Given the description of an element on the screen output the (x, y) to click on. 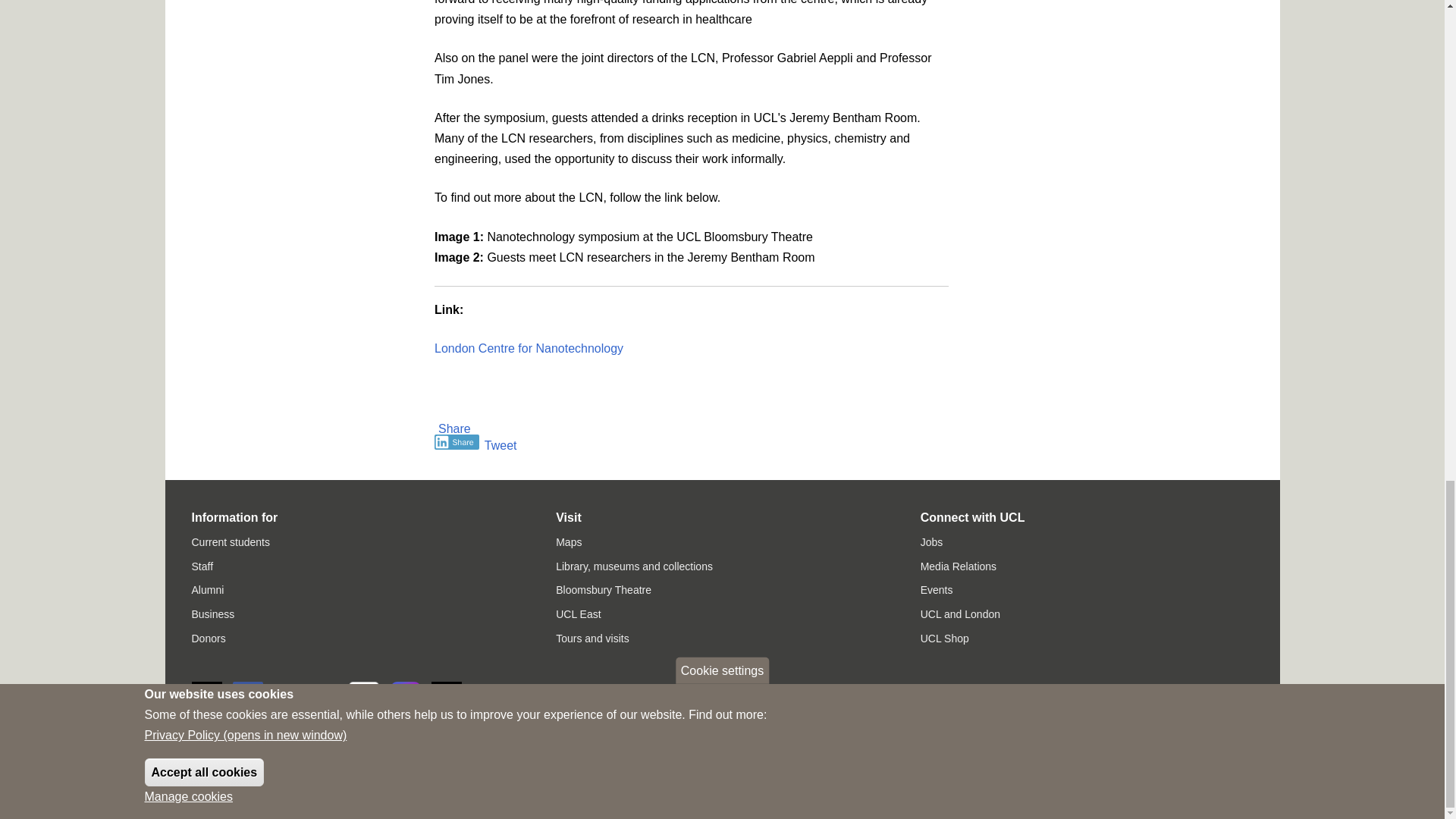
London Centre for Nanotechnology (528, 348)
